Given the description of an element on the screen output the (x, y) to click on. 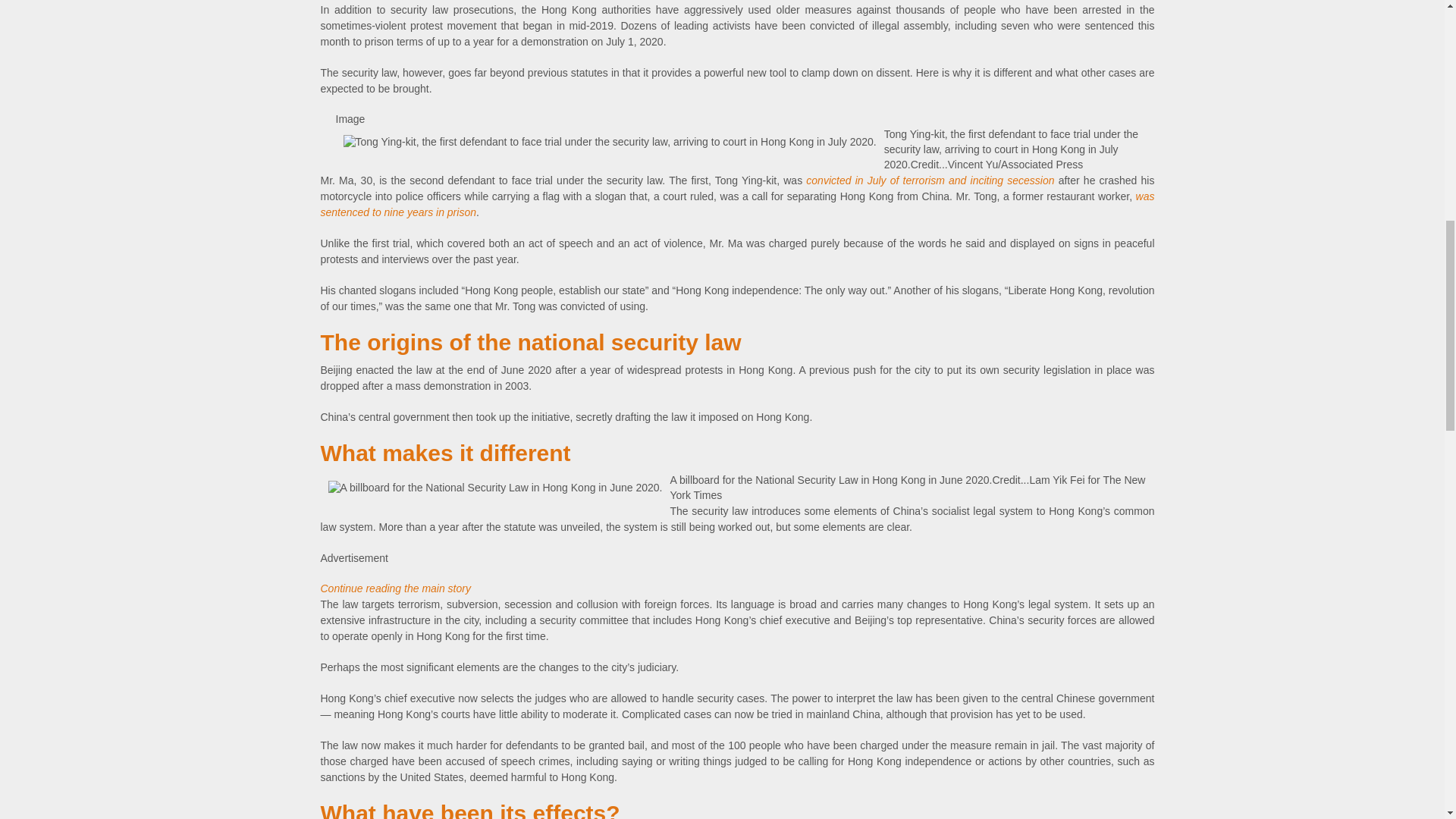
convicted in July of terrorism and inciting secession (930, 180)
